Given the description of an element on the screen output the (x, y) to click on. 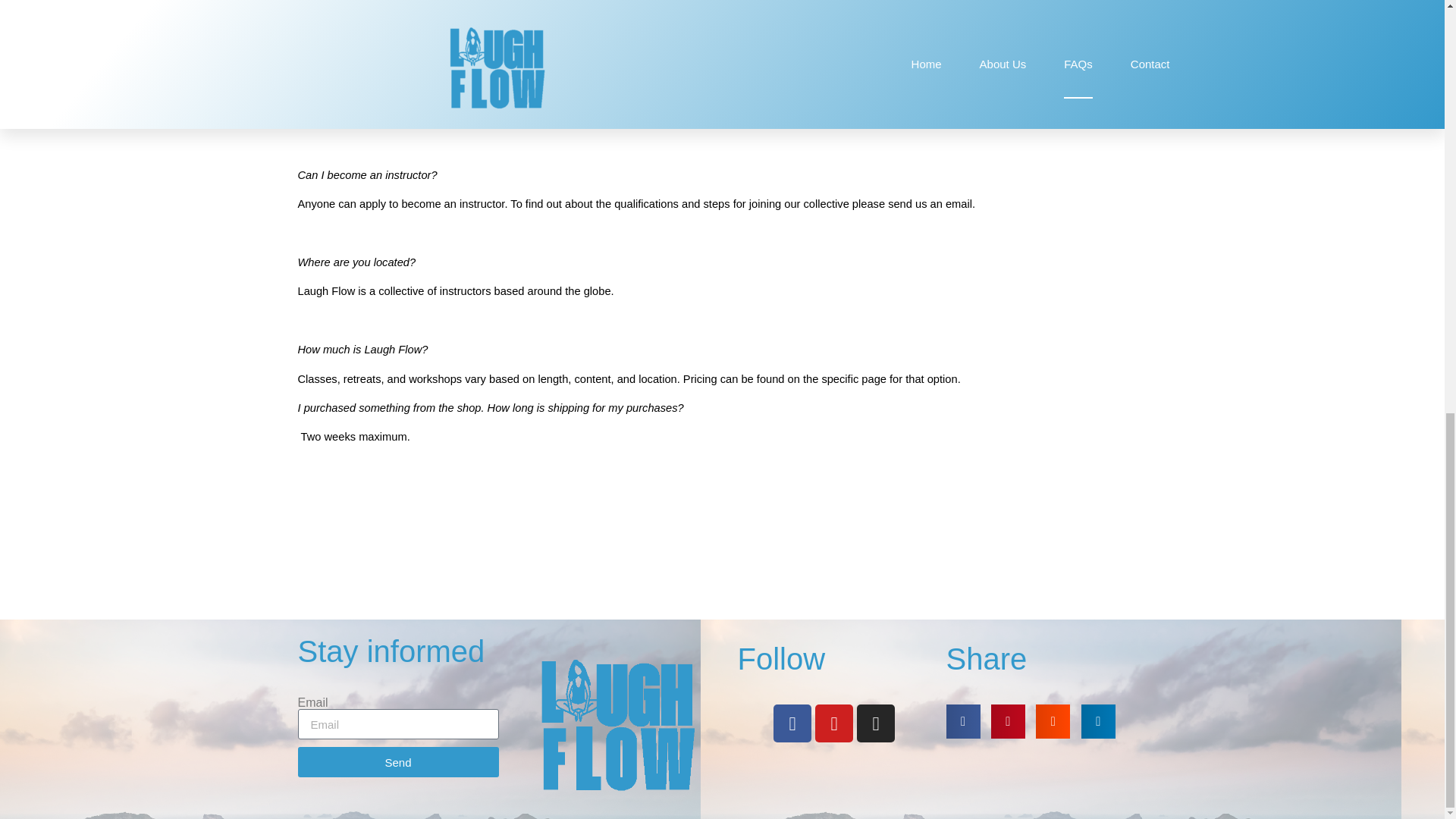
Send (397, 761)
